Given the description of an element on the screen output the (x, y) to click on. 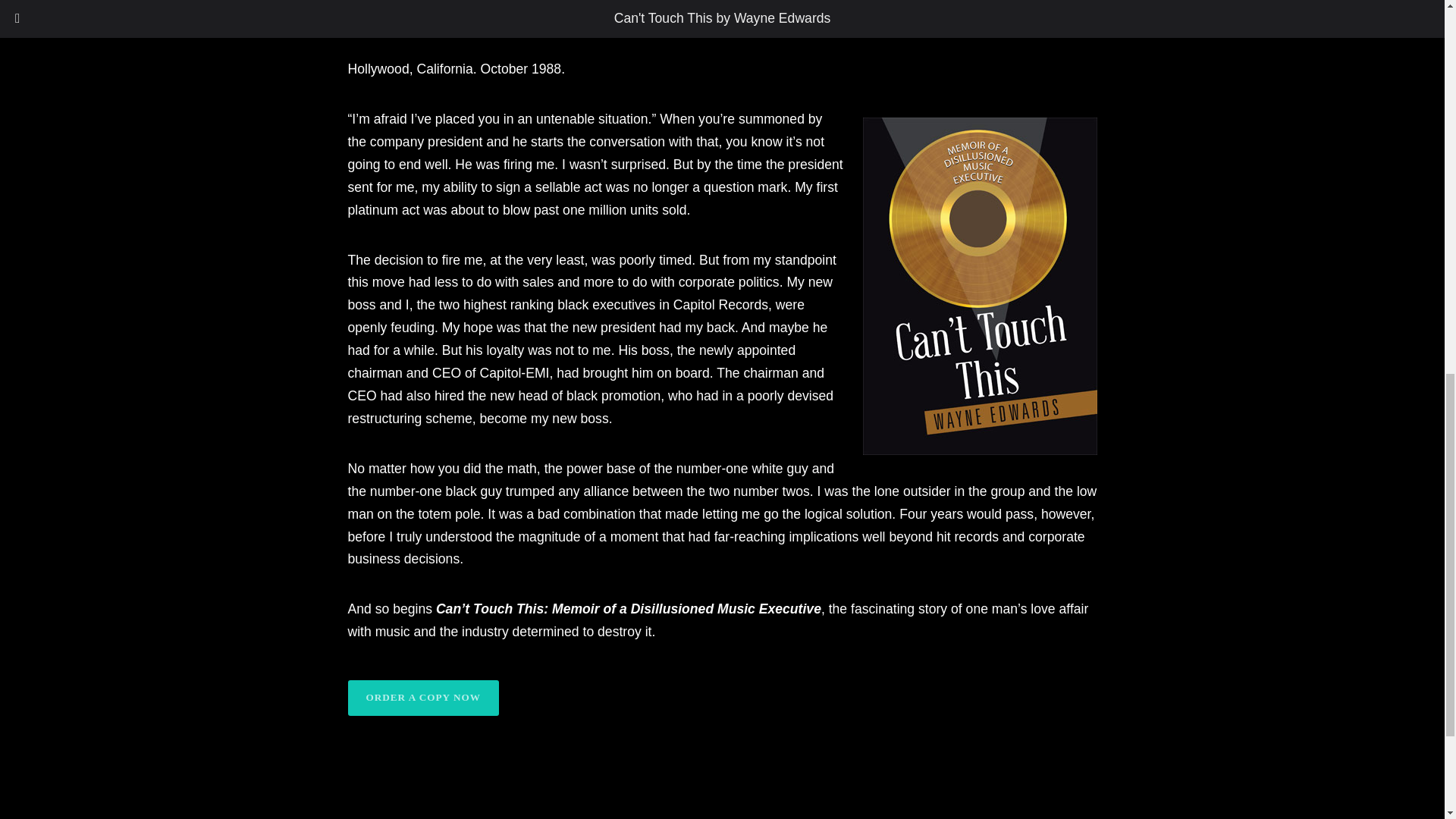
ORDER A COPY NOW (422, 697)
